Given the description of an element on the screen output the (x, y) to click on. 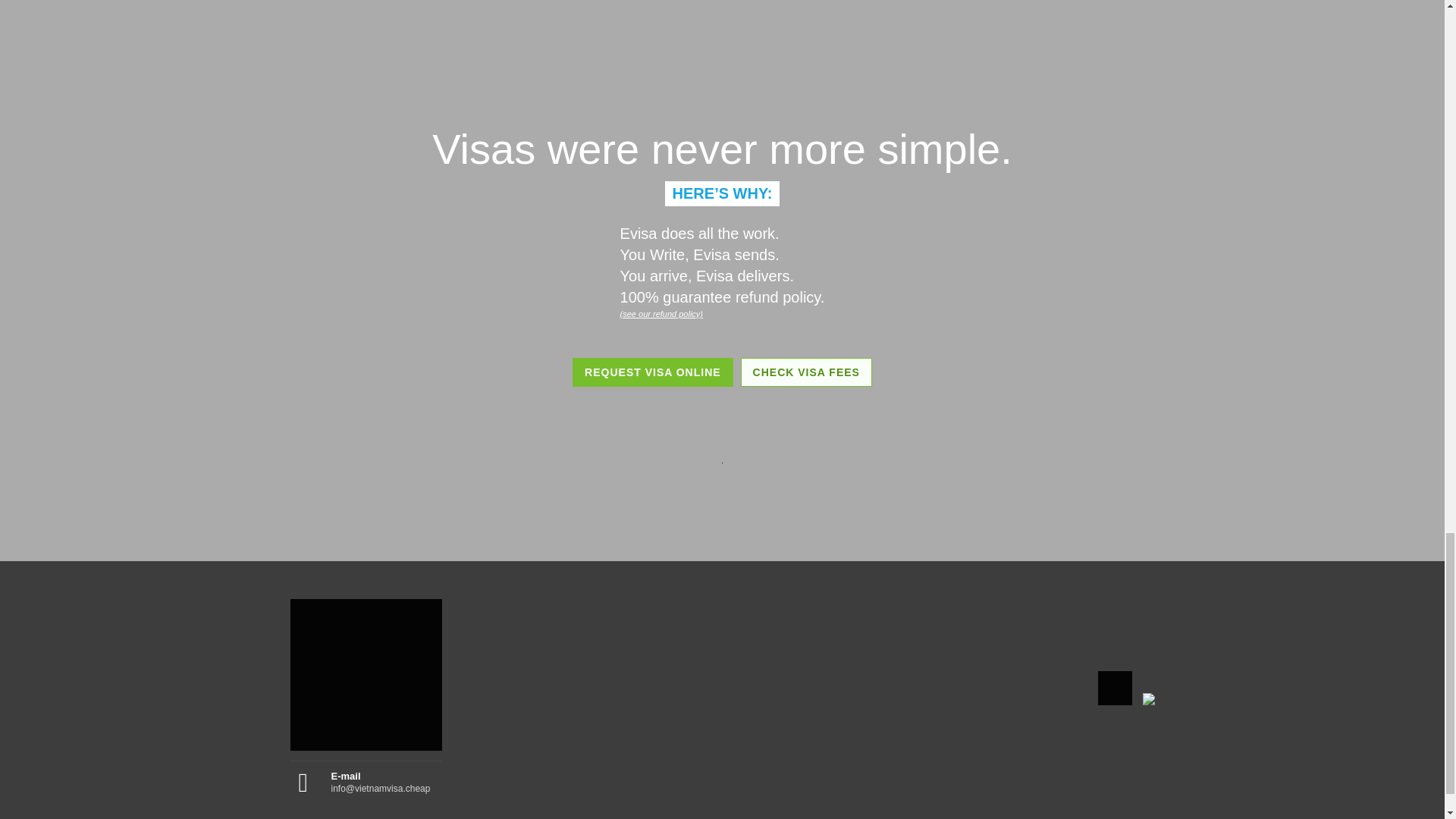
REQUEST VISA ONLINE (652, 371)
CHECK VISA FEES (806, 371)
